Given the description of an element on the screen output the (x, y) to click on. 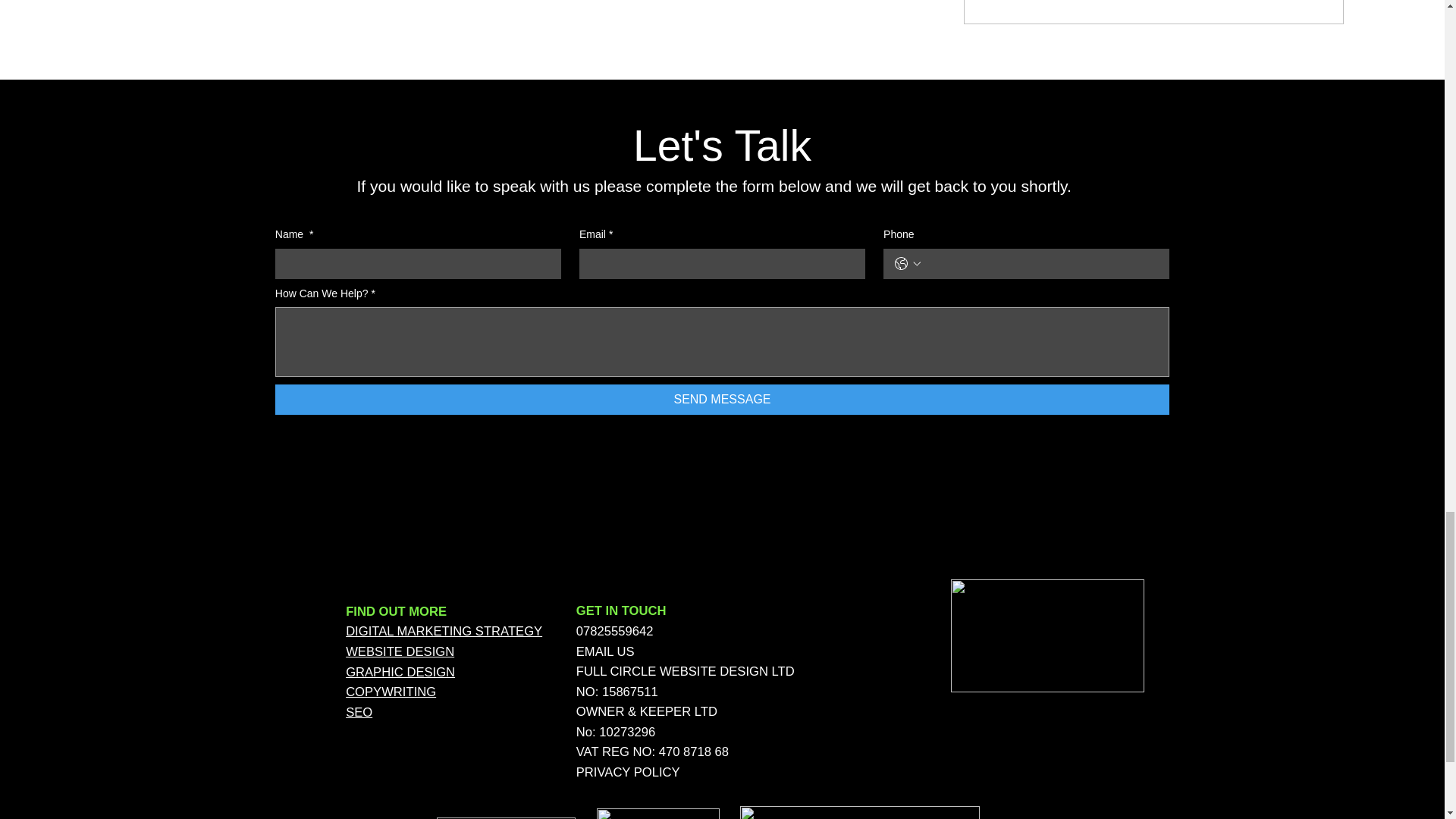
SEO (359, 712)
FULL CIRCLE WEBSITE DESIGN LTD NO: 15867511 (685, 681)
DIGITAL MARKETING STRATEGY (443, 631)
SEND MESSAGE (722, 399)
WEBSITE DESIGN (400, 651)
EMAIL US (605, 651)
07825559642 (614, 631)
COPYWRITING (390, 691)
GRAPHIC DESIGN (400, 672)
